Given the description of an element on the screen output the (x, y) to click on. 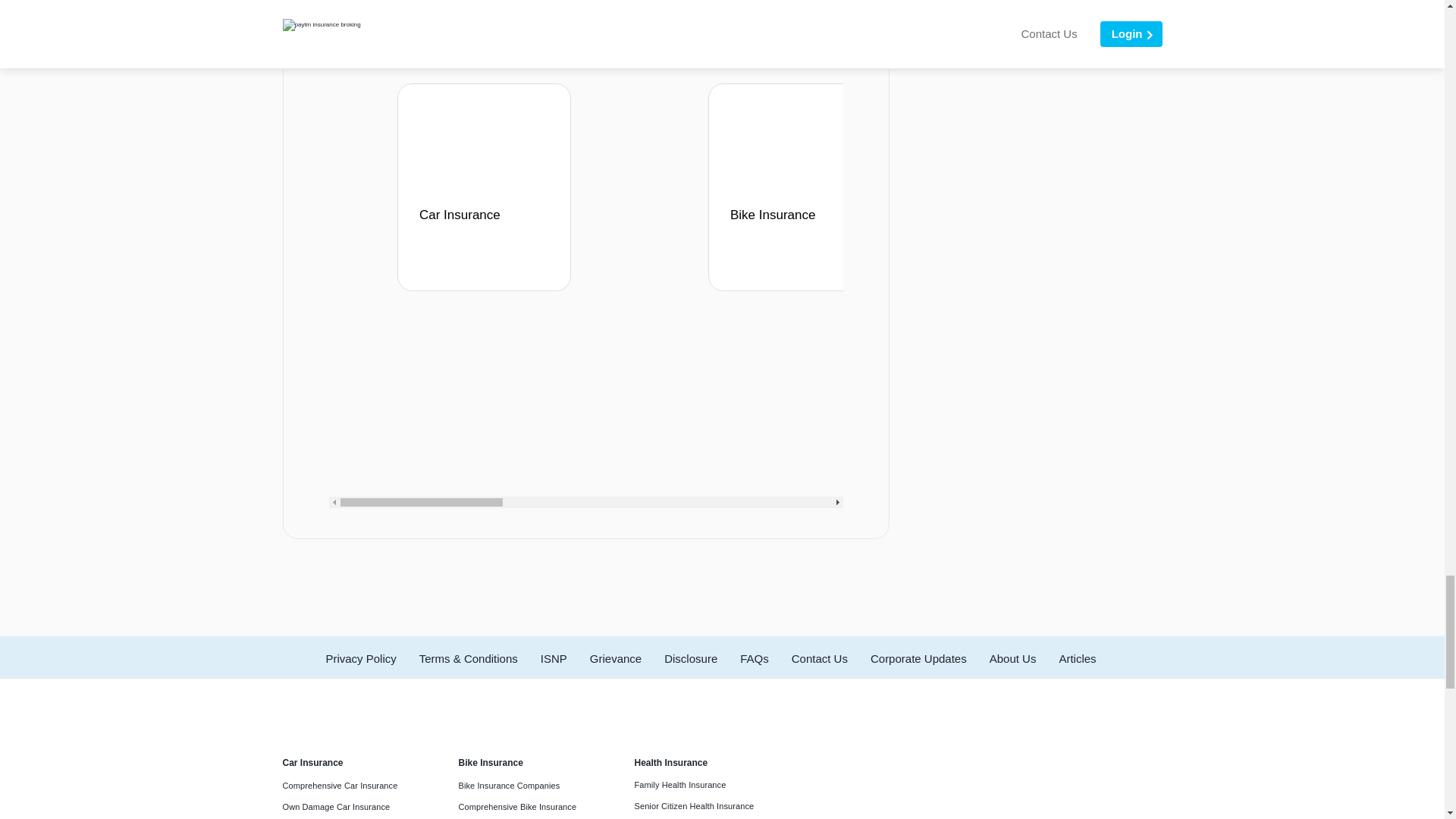
Health Insurance (1110, 224)
Bike Insurance (799, 224)
Car Insurance (488, 224)
